Given the description of an element on the screen output the (x, y) to click on. 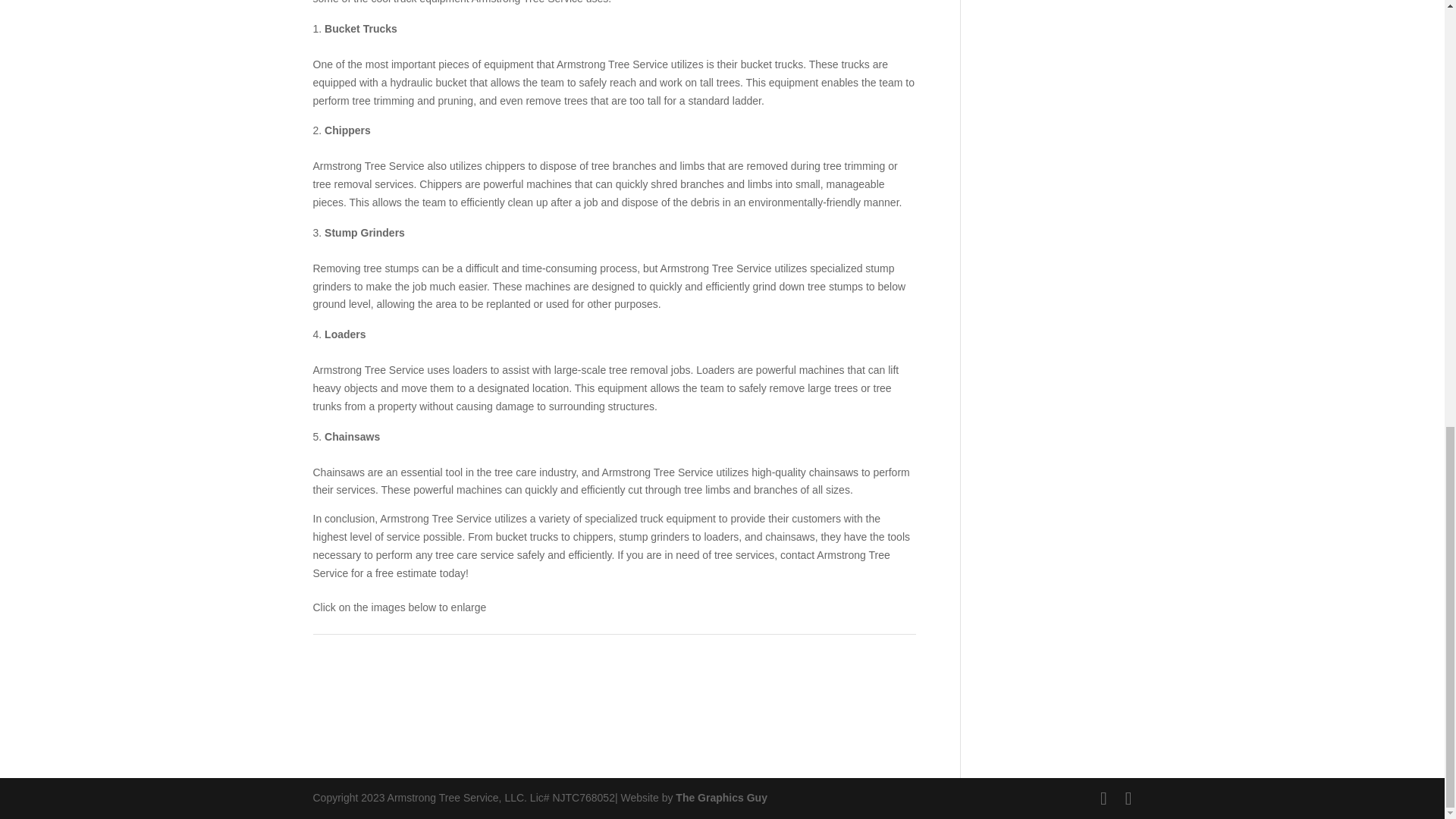
The Graphics Guy (721, 797)
